Given the description of an element on the screen output the (x, y) to click on. 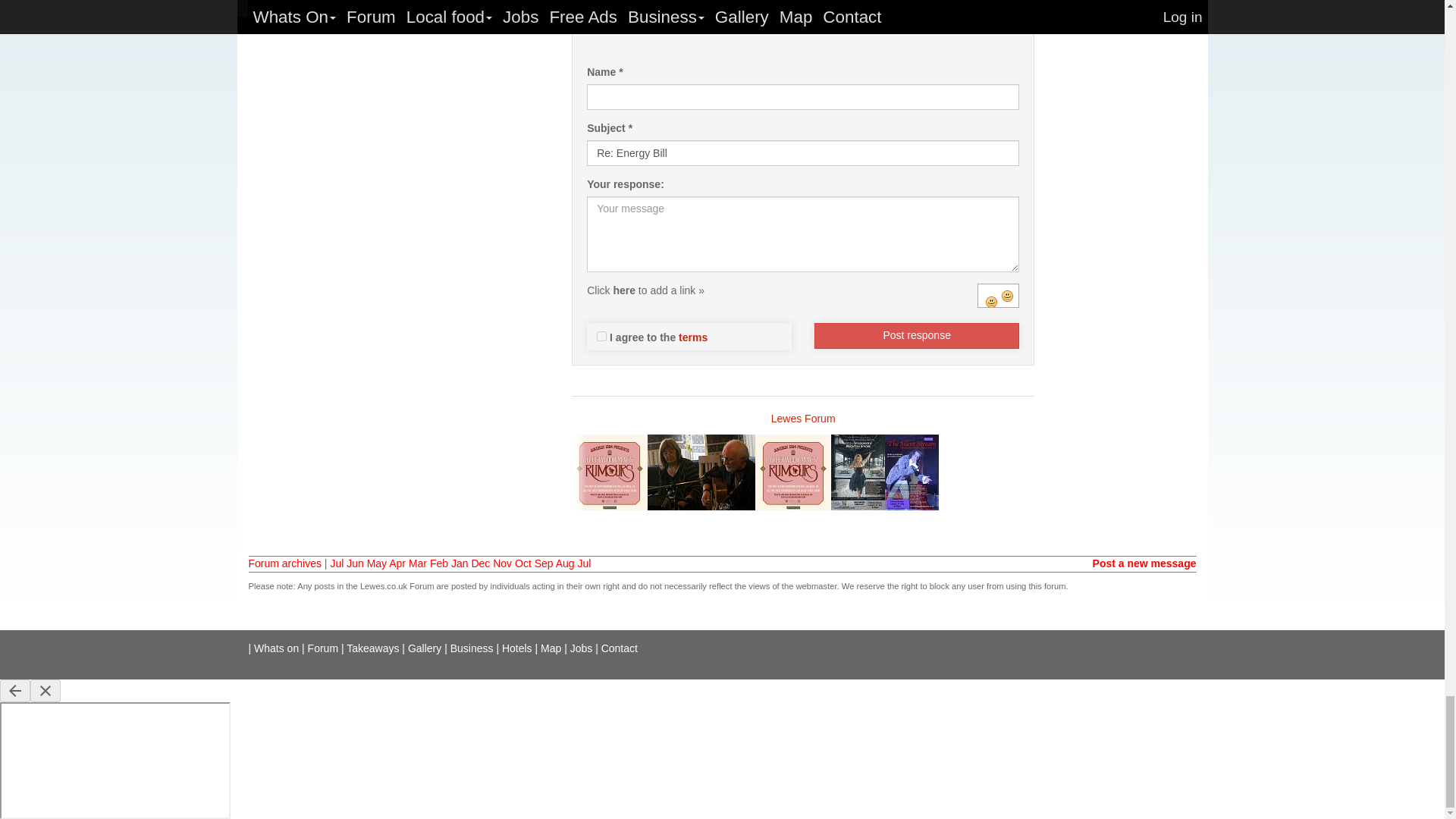
Re: Energy Bill (802, 153)
Takeaways (372, 648)
